Given the description of an element on the screen output the (x, y) to click on. 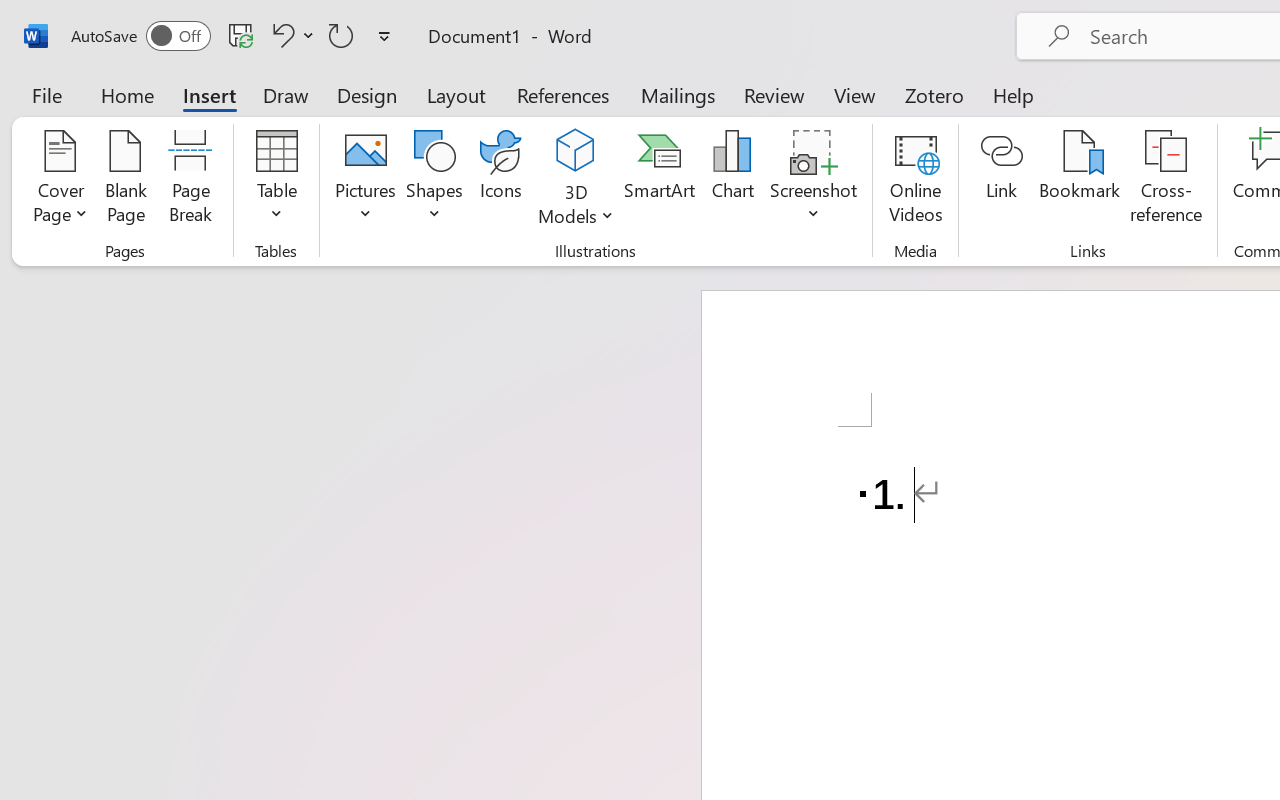
Undo Number Default (280, 35)
Shapes (435, 179)
Bookmark... (1079, 179)
